Given the description of an element on the screen output the (x, y) to click on. 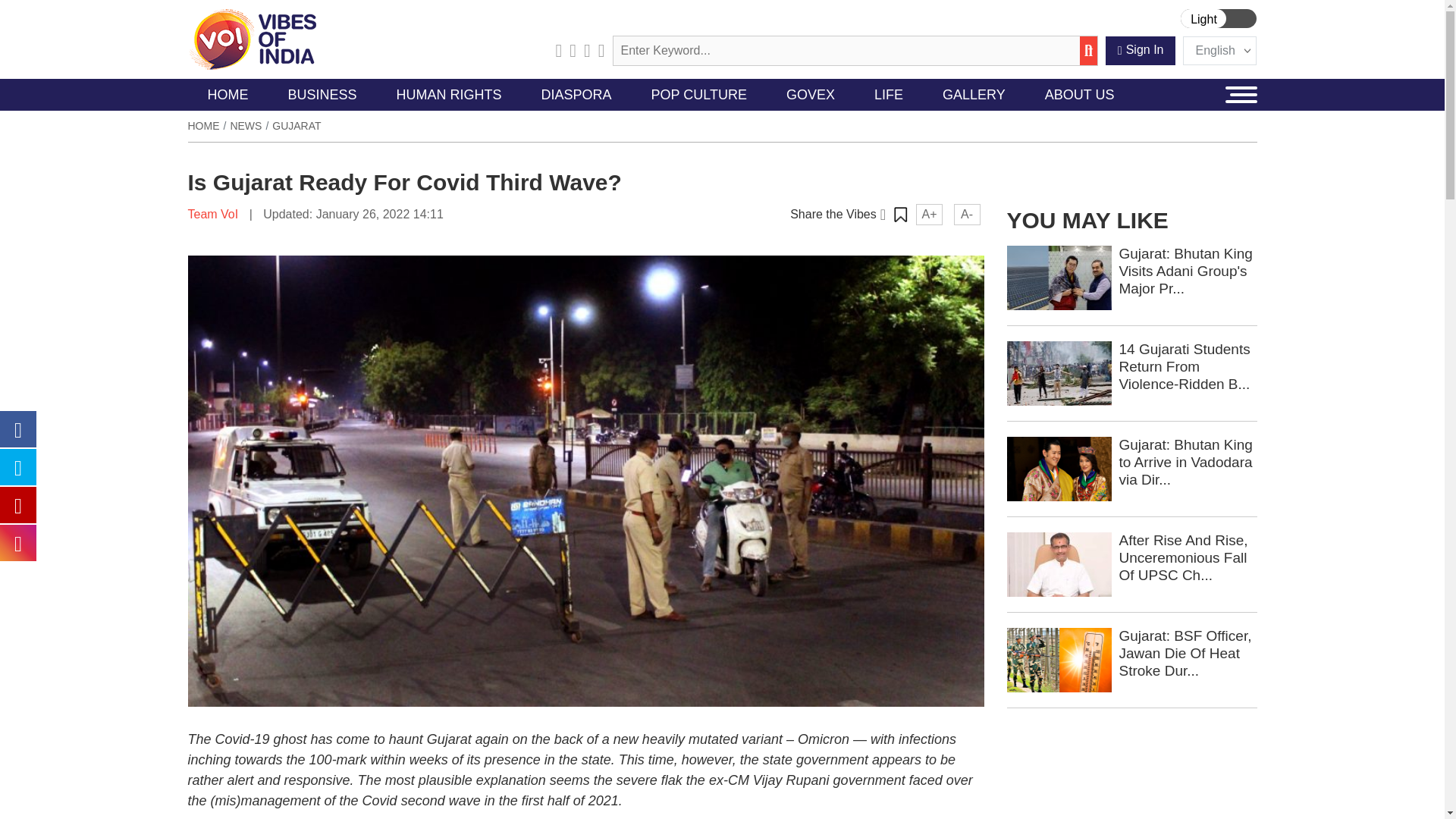
POP CULTURE (699, 94)
HUMAN RIGHTS (449, 94)
Vibes of India (251, 38)
Sign In (1140, 50)
Home (203, 125)
HOME (227, 94)
BUSINESS (322, 94)
ABOUT US (1079, 94)
LIFE (888, 94)
GOVEX (810, 94)
Vibes of India (251, 39)
GALLERY (974, 94)
DIASPORA (576, 94)
